Given the description of an element on the screen output the (x, y) to click on. 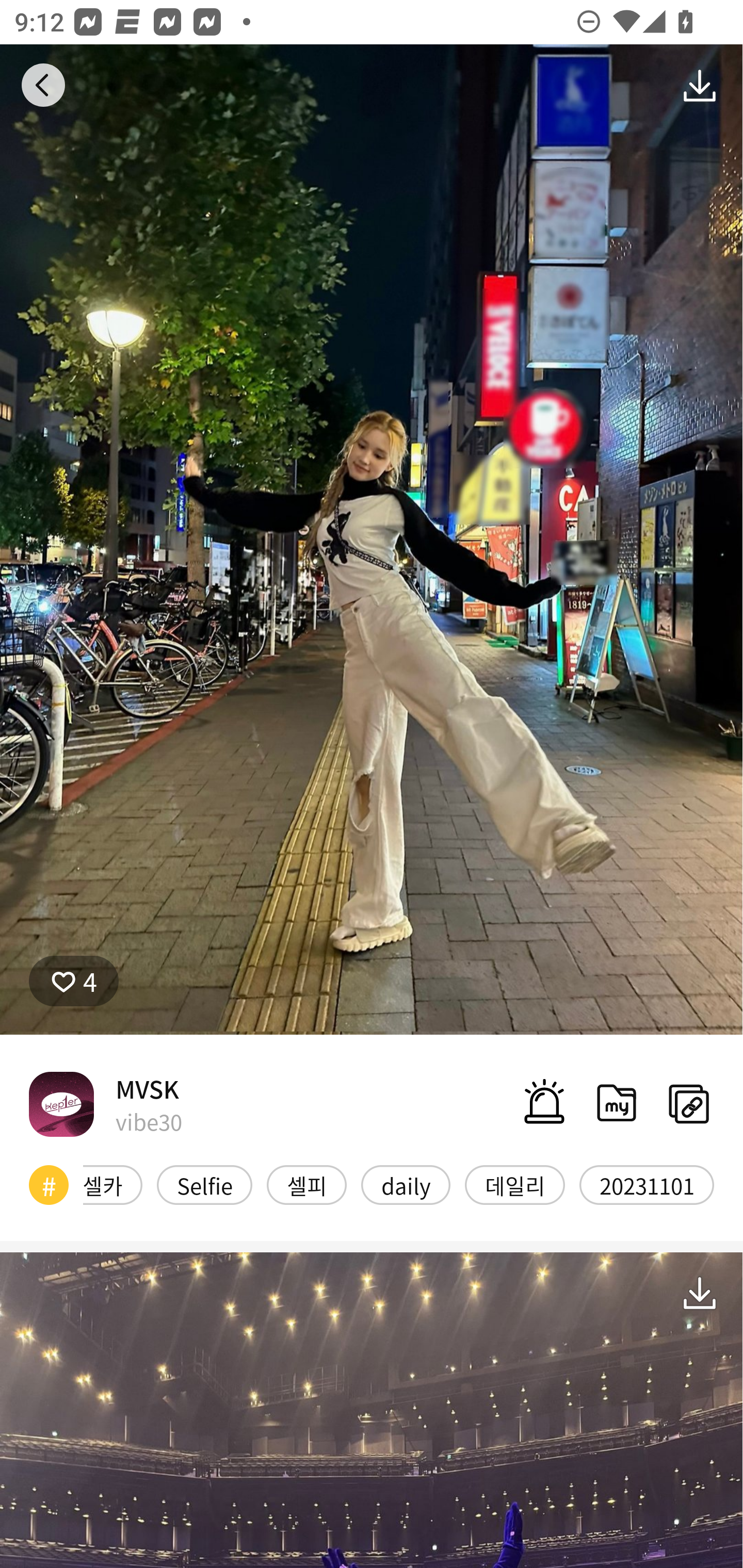
4 (73, 980)
MVSK vibe30 (105, 1103)
셀카 (112, 1184)
Selfie (204, 1184)
셀피 (306, 1184)
daily (405, 1184)
데일리 (514, 1184)
20231101 (646, 1184)
